Given the description of an element on the screen output the (x, y) to click on. 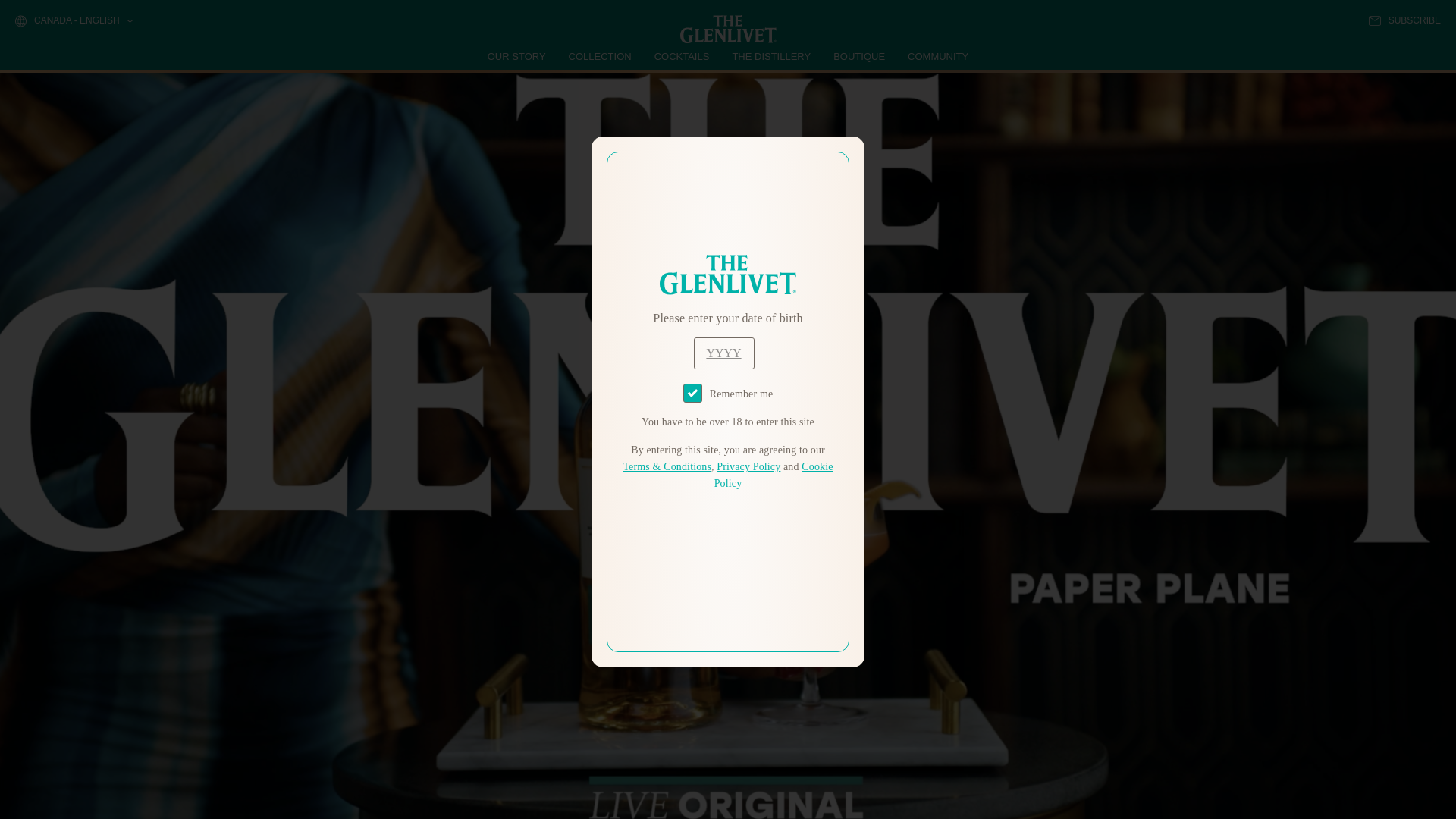
SUBSCRIBE (1404, 20)
Privacy Policy (748, 466)
OUR STORY (516, 56)
COLLECTION (600, 56)
THE DISTILLERY (771, 56)
BOUTIQUE (858, 56)
Cookie Policy (773, 474)
CANADA - ENGLISH (73, 21)
COCKTAILS (681, 56)
COMMUNITY (937, 56)
year (723, 353)
